Given the description of an element on the screen output the (x, y) to click on. 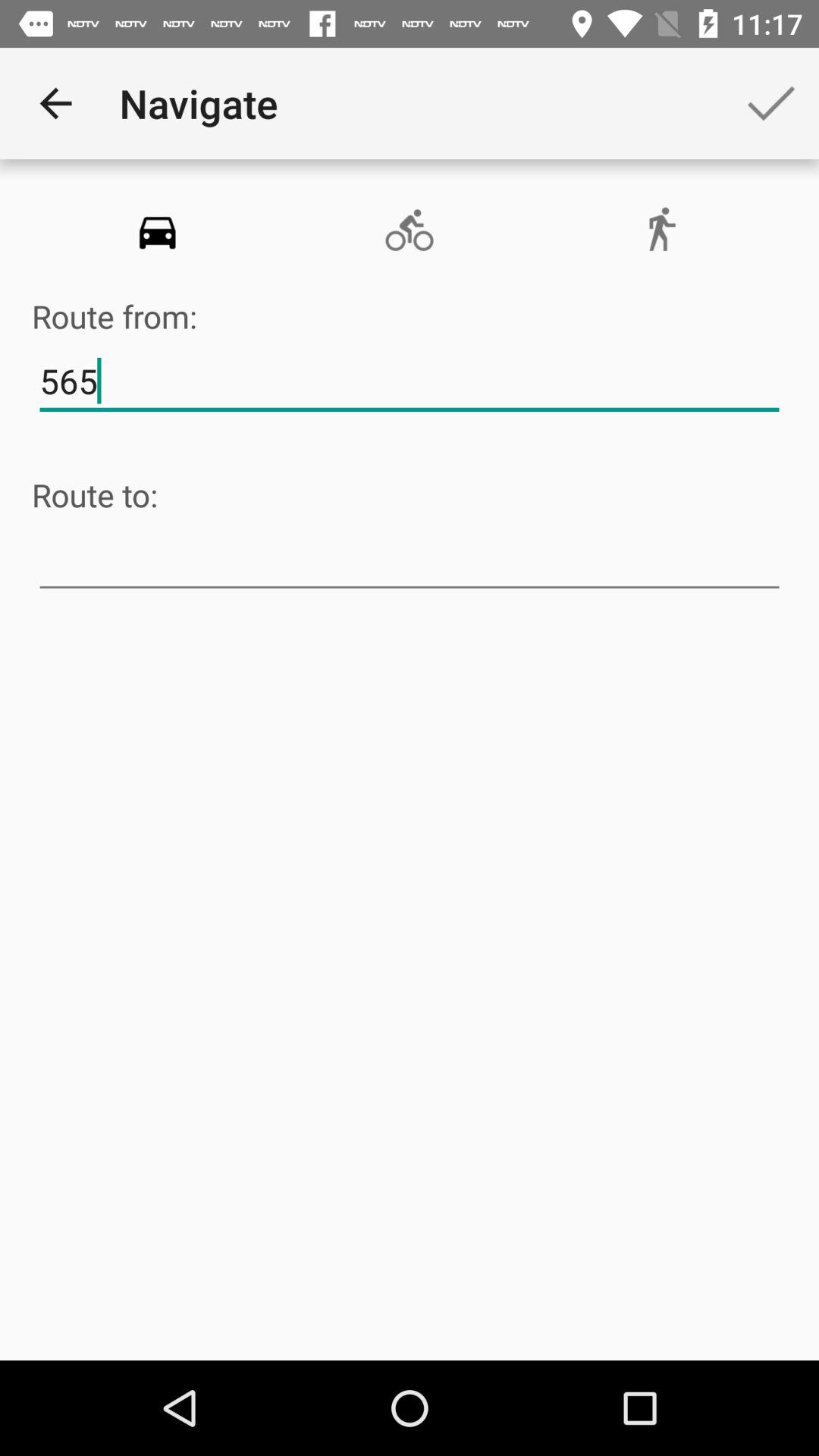
select item above the 565 (409, 230)
